Given the description of an element on the screen output the (x, y) to click on. 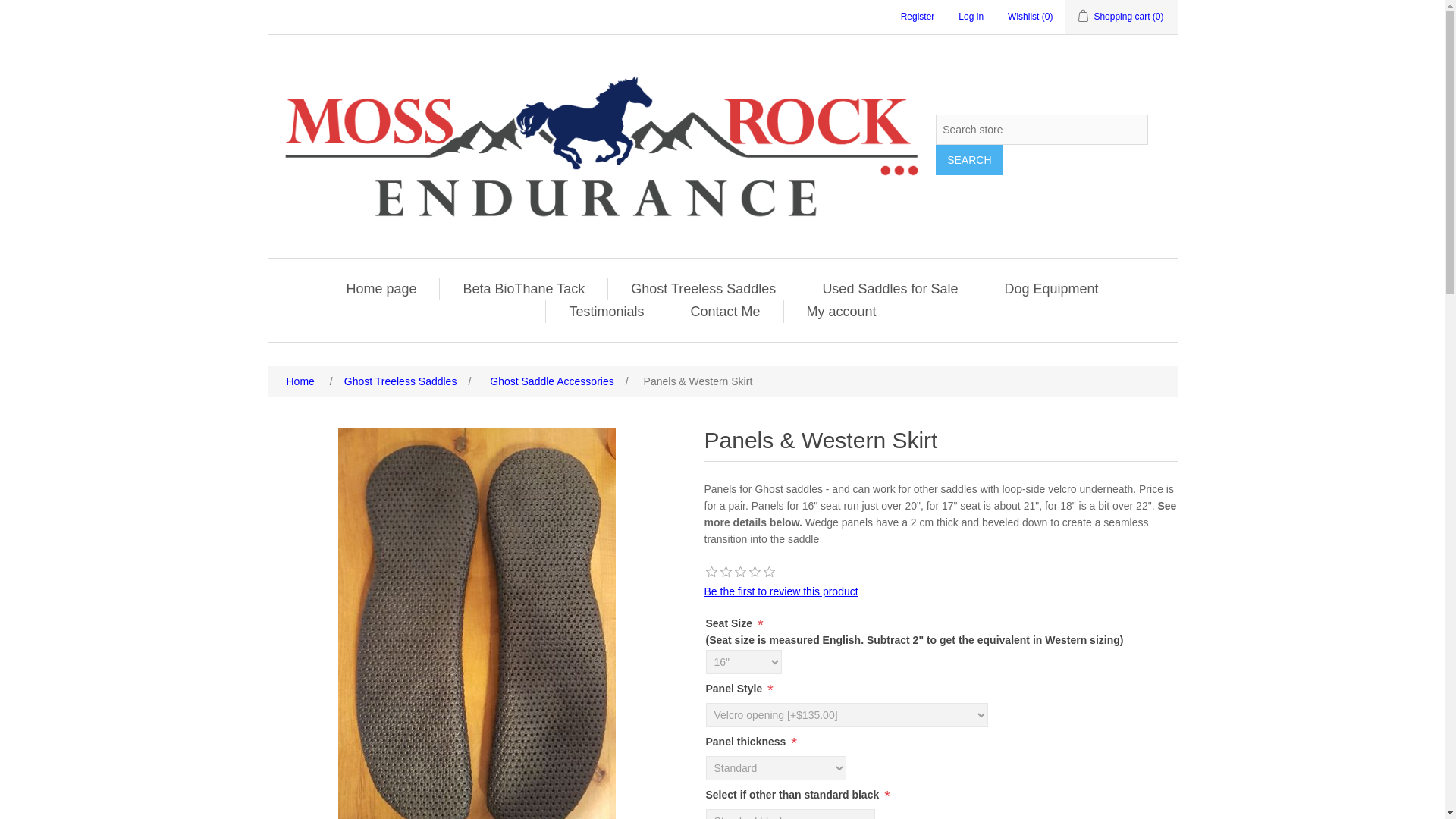
Search (969, 159)
Home page (380, 288)
Used Saddles for Sale (889, 288)
Beta BioThane Tack (523, 288)
Register (917, 17)
Search (969, 159)
Dog Equipment (1050, 288)
My account (841, 311)
Contact Me (724, 311)
Search (969, 159)
